Given the description of an element on the screen output the (x, y) to click on. 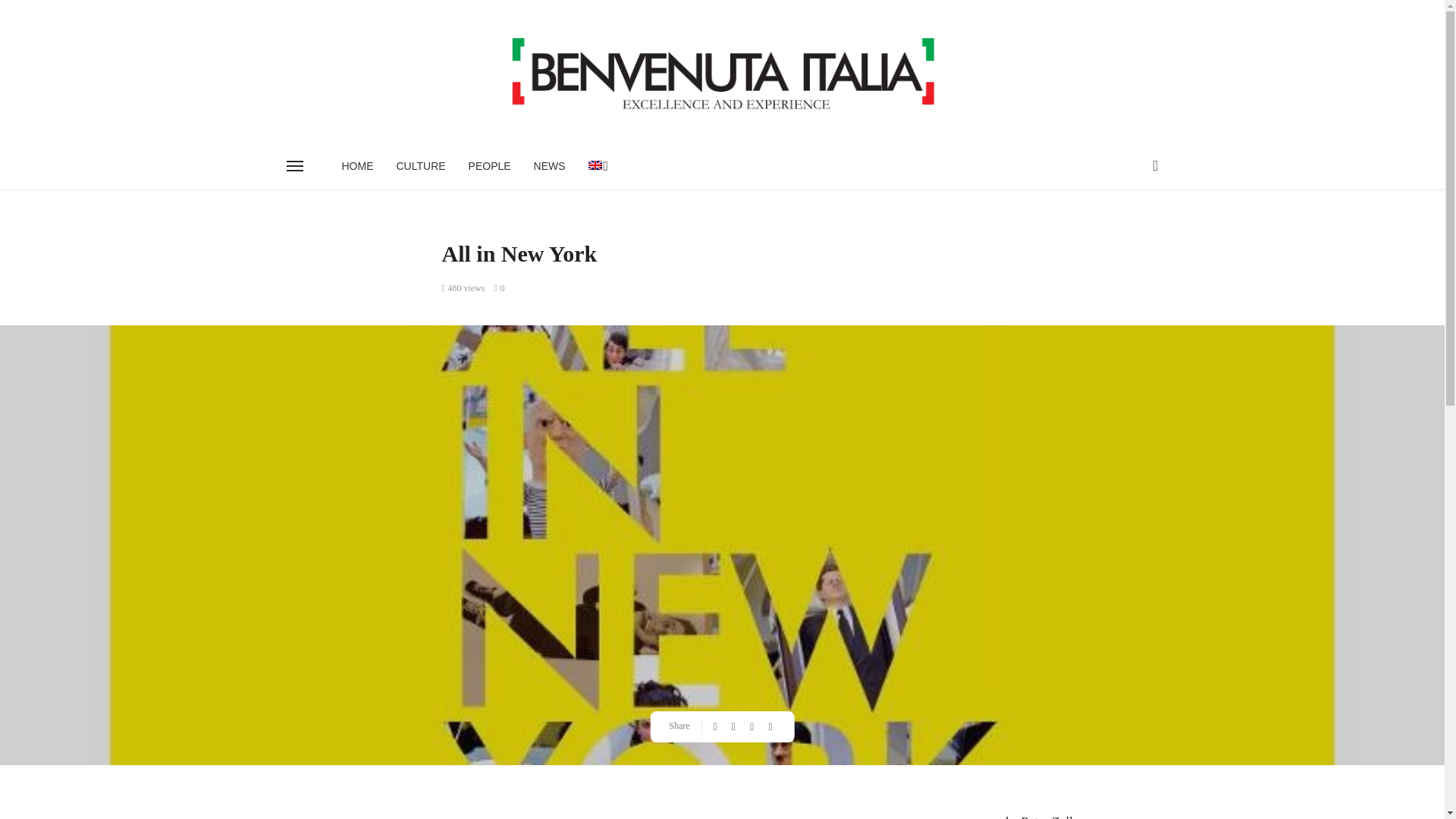
PEOPLE (489, 166)
0 (498, 287)
HOME (357, 166)
0 Comments (498, 287)
NEWS (549, 166)
CULTURE (421, 166)
